Given the description of an element on the screen output the (x, y) to click on. 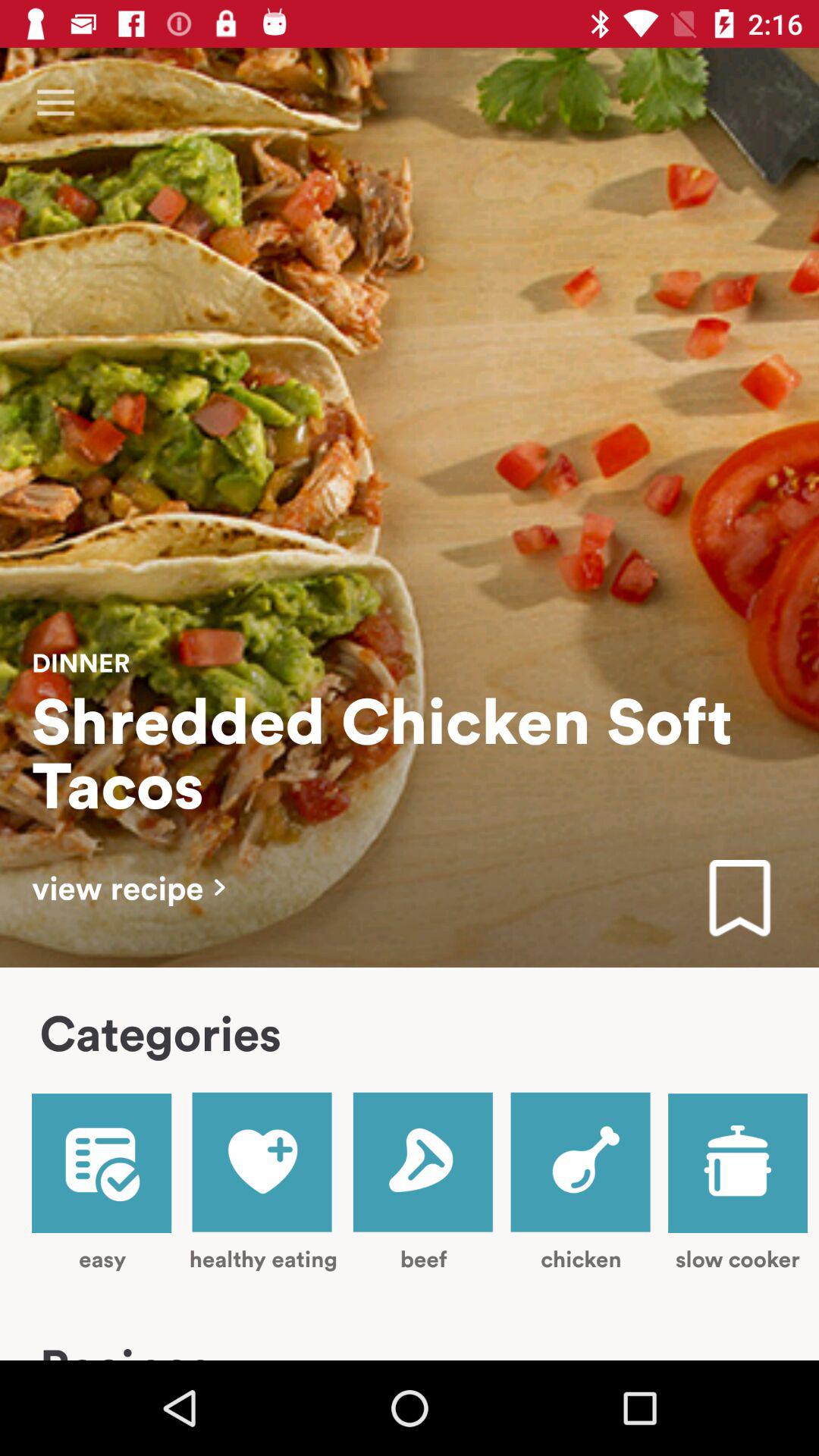
press item below the categories (263, 1181)
